Given the description of an element on the screen output the (x, y) to click on. 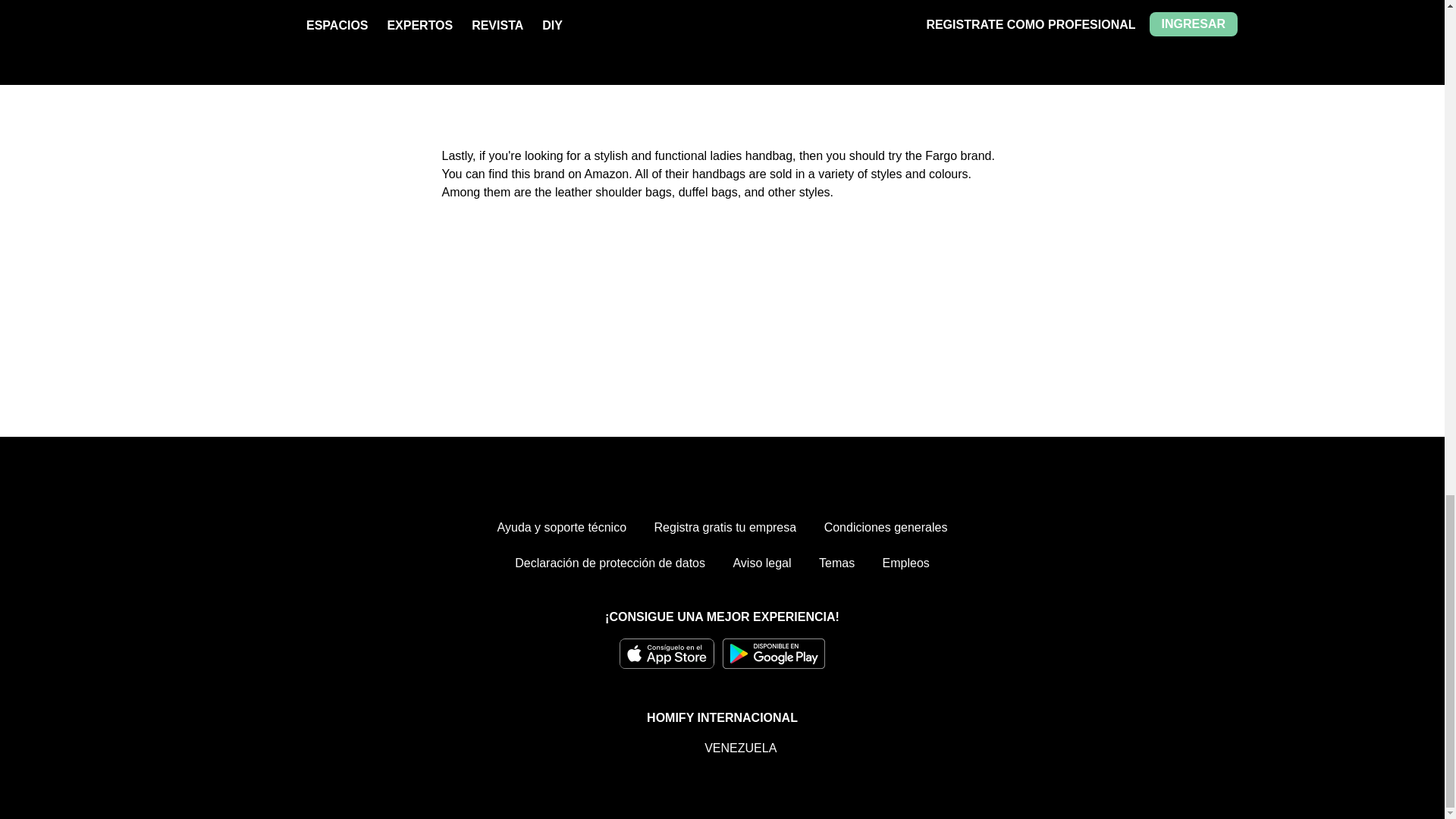
Empleos (906, 563)
Temas (836, 563)
Condiciones generales (885, 527)
Aviso legal (761, 563)
Registra gratis tu empresa (724, 527)
